Given the description of an element on the screen output the (x, y) to click on. 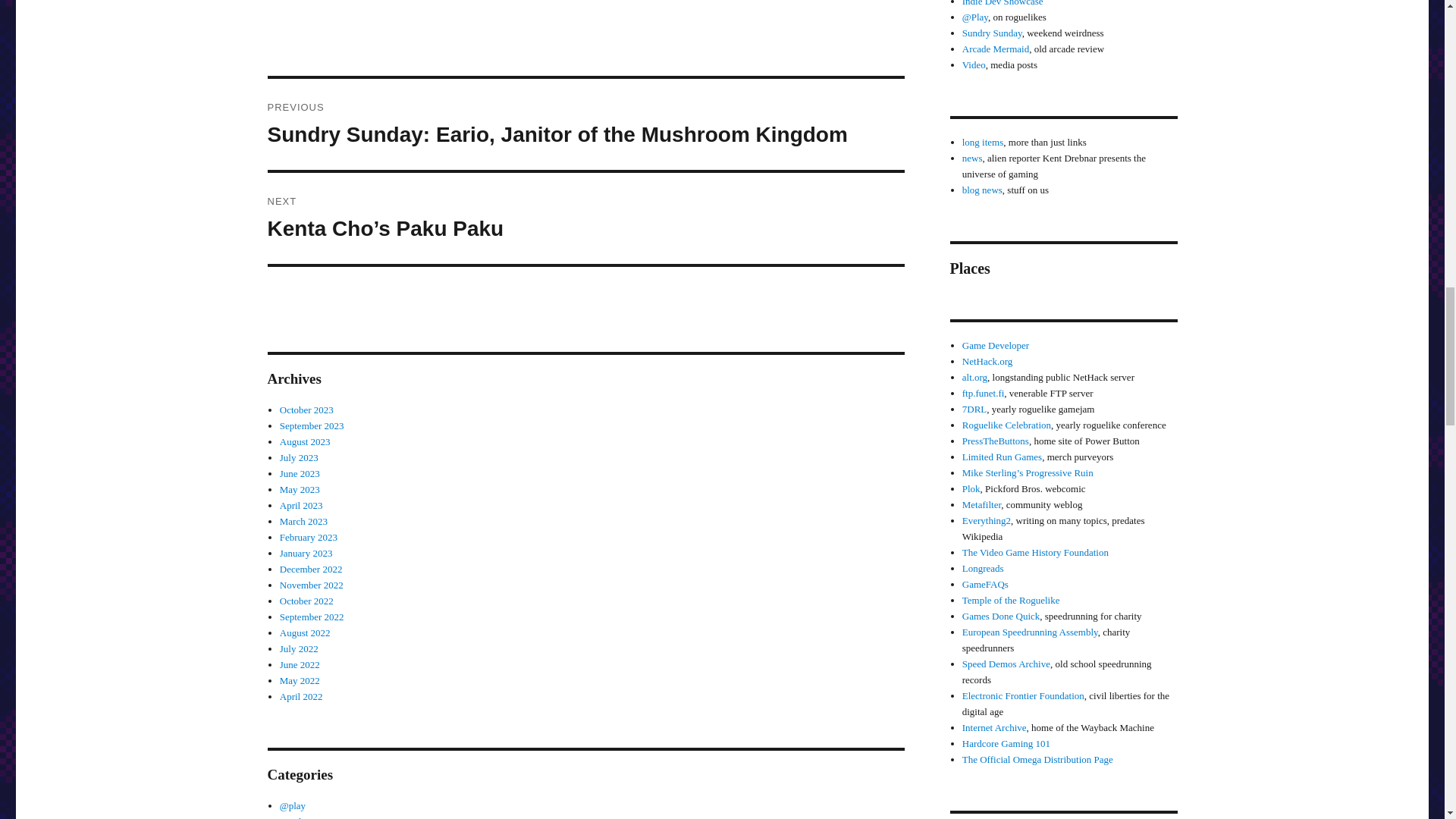
November 2022 (311, 584)
February 2023 (308, 536)
October 2023 (306, 409)
January 2023 (306, 552)
June 2023 (299, 473)
July 2023 (298, 457)
May 2023 (299, 489)
August 2023 (304, 441)
December 2022 (310, 568)
